Given the description of an element on the screen output the (x, y) to click on. 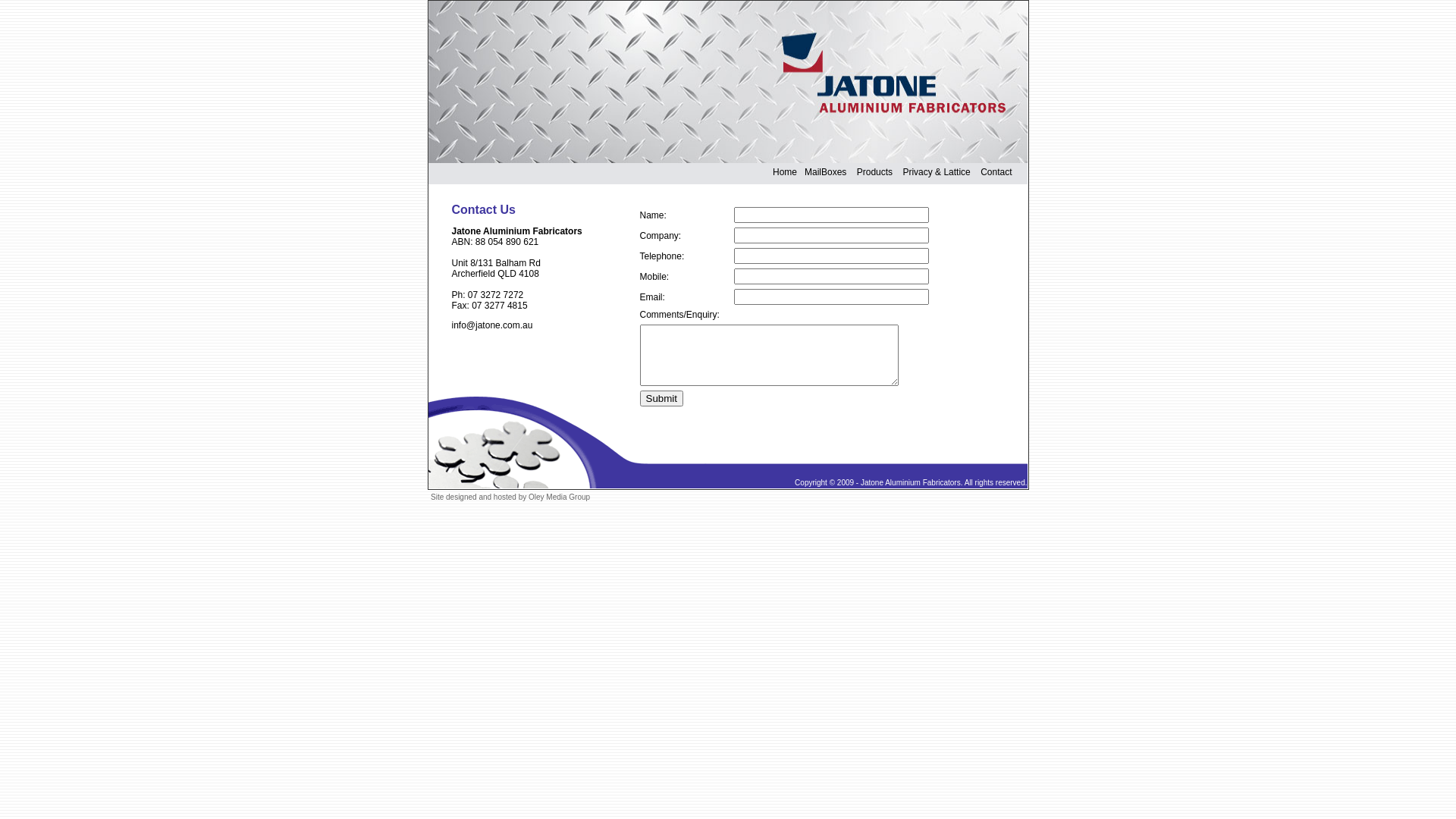
Contact Element type: text (995, 172)
Home Element type: text (784, 172)
Submit Element type: text (661, 398)
Privacy & Lattice Element type: text (935, 172)
Products Element type: text (874, 172)
info@jatone.com.au Element type: text (492, 325)
Oley Media Group Element type: text (558, 496)
MailBoxes Element type: text (825, 172)
